Given the description of an element on the screen output the (x, y) to click on. 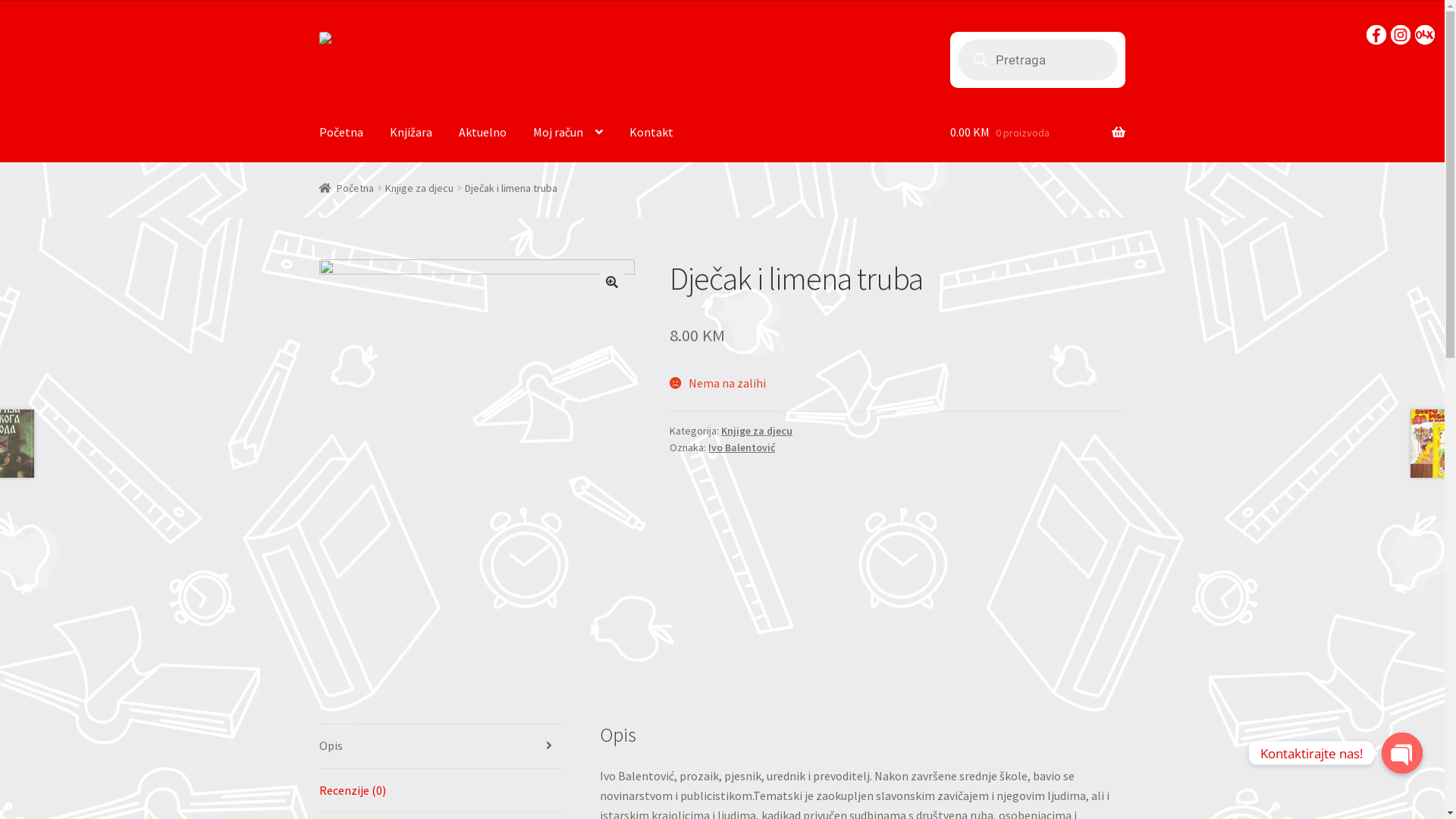
Instagram Element type: hover (1400, 34)
Recenzije (0) Element type: text (441, 790)
0.00 KM 0 proizvoda Element type: text (1037, 132)
Facebook Element type: hover (1376, 34)
Opis Element type: text (441, 746)
Knjige za djecu Element type: text (419, 187)
Kontakt Element type: text (651, 132)
Aktuelno Element type: text (482, 132)
OLX Element type: hover (1424, 34)
Knjige za djecu Element type: text (756, 430)
